Given the description of an element on the screen output the (x, y) to click on. 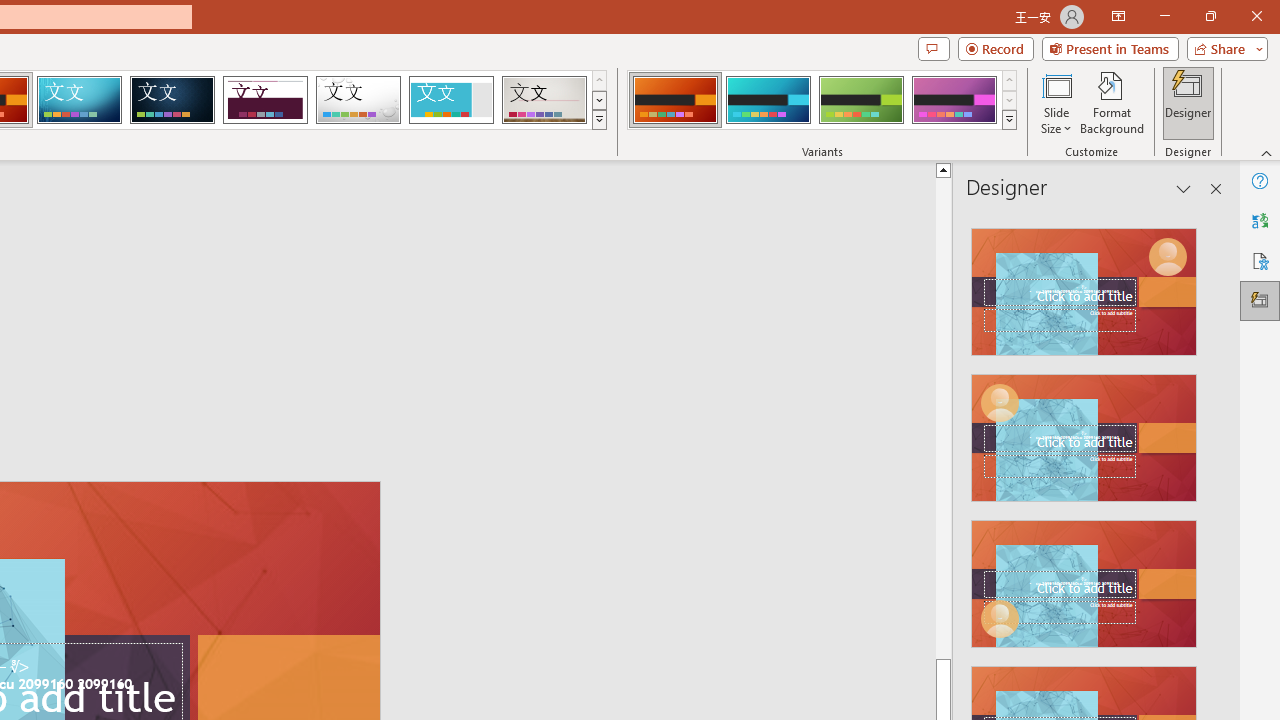
Recommended Design: Design Idea (1083, 286)
Berlin Variant 3 (861, 100)
Page up (1230, 417)
Slide Size (1056, 102)
Berlin Variant 2 (768, 100)
